Given the description of an element on the screen output the (x, y) to click on. 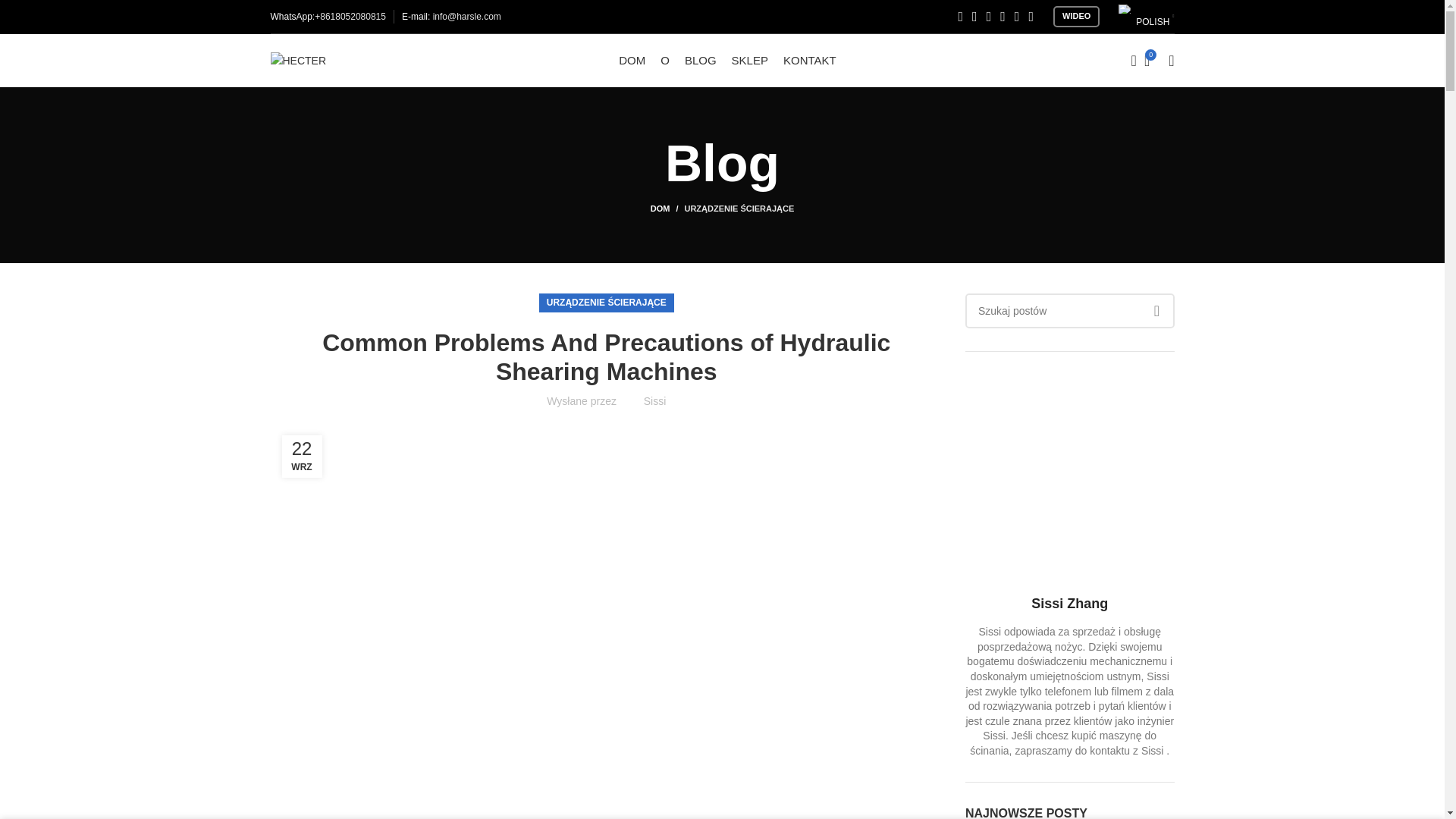
KONTAKT (809, 60)
Polish (1125, 8)
WIDEO (1075, 16)
SKLEP (750, 60)
POLISH (1144, 16)
BLOG (700, 60)
Log in (1049, 301)
DOM (667, 208)
